Given the description of an element on the screen output the (x, y) to click on. 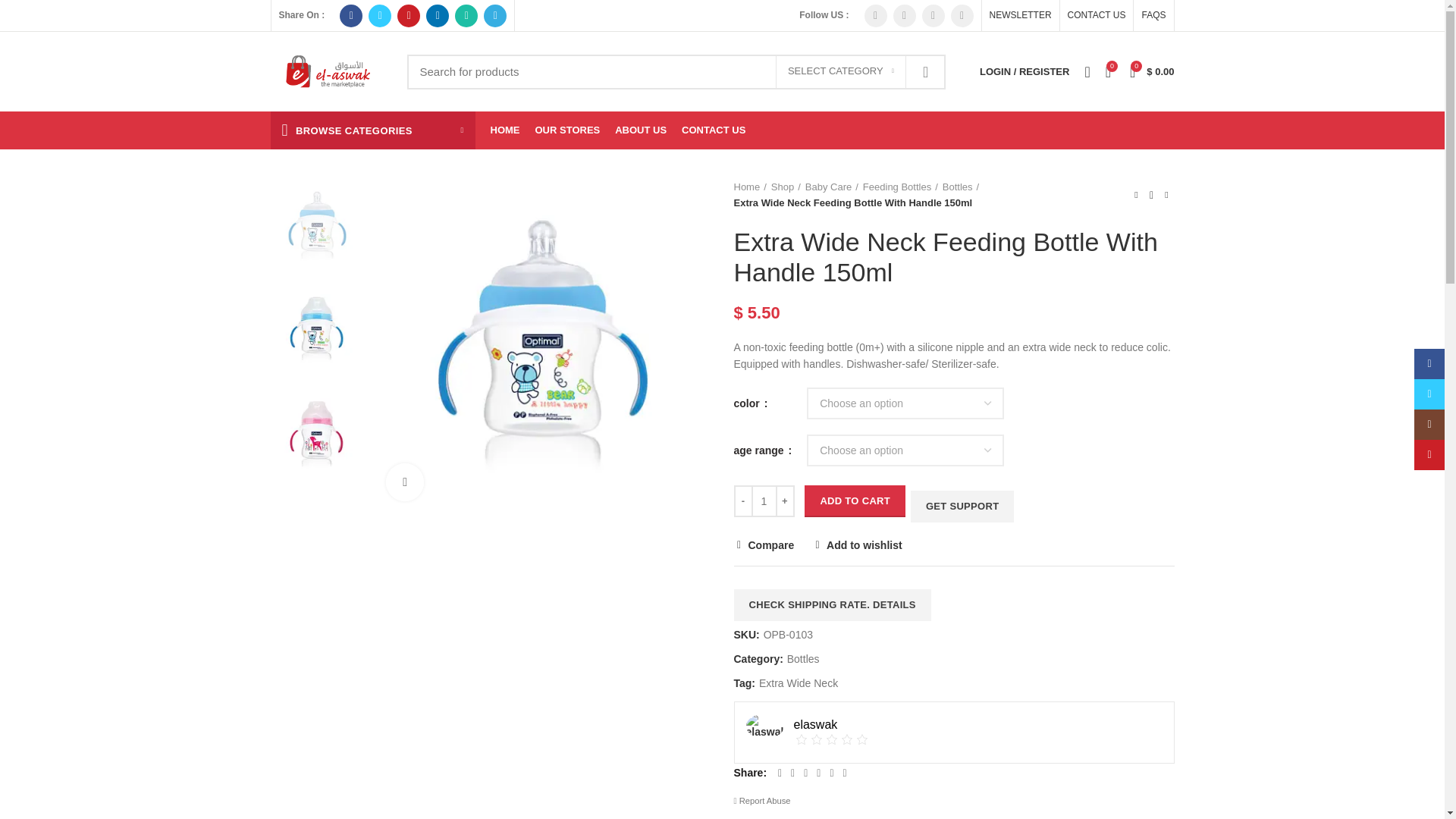
- (742, 500)
Search for products (675, 71)
SELECT CATEGORY (840, 71)
Qty (763, 500)
FAQS (1153, 15)
NEWSLETTER (1020, 15)
OPB---0103---2 (316, 329)
My account (1024, 71)
SELECT CATEGORY (840, 71)
1 (763, 500)
OPB---0103---1 (542, 345)
CONTACT US (1096, 15)
Compare products (1107, 71)
My Wishlist (1087, 71)
OPB---0103---3 (316, 433)
